Given the description of an element on the screen output the (x, y) to click on. 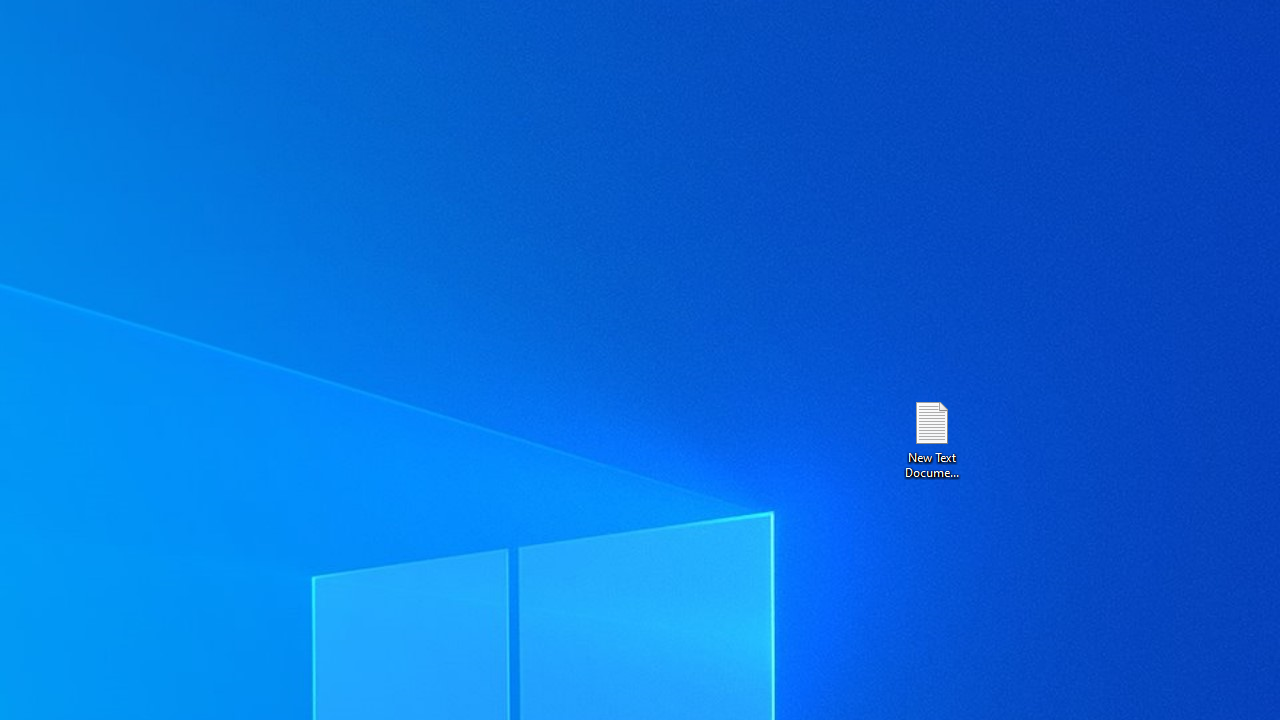
New Text Document (2) (931, 438)
